Given the description of an element on the screen output the (x, y) to click on. 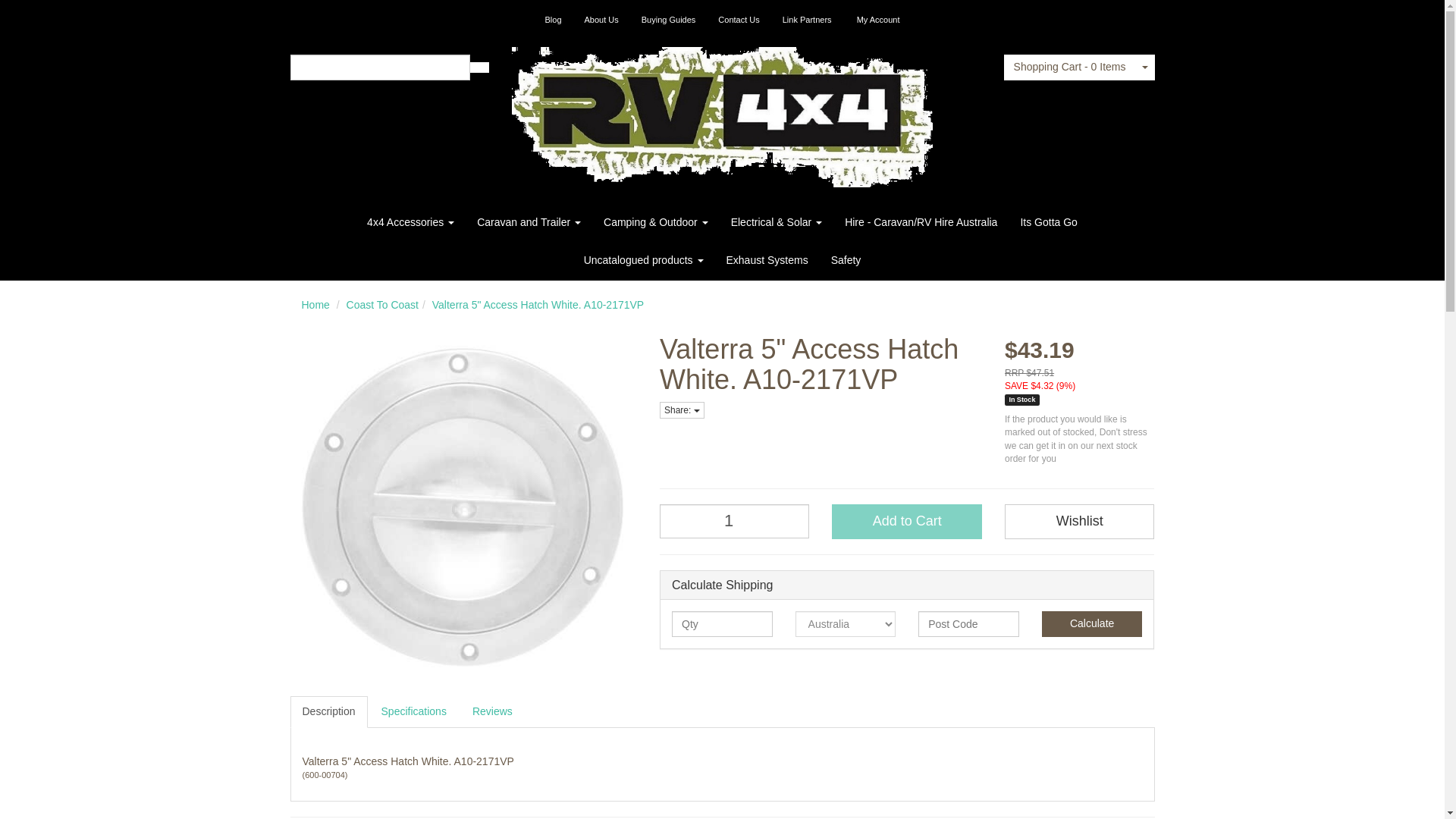
Buying Guides (668, 19)
Calculate (1092, 623)
Search (478, 67)
Blog (553, 19)
Link Partners (807, 19)
Shopping Cart - 0 Items (1069, 67)
Add to Cart (906, 521)
My Account (878, 19)
4x4 Accessories (410, 221)
RV4x4 PTY LTD  (722, 111)
About Us (601, 19)
1 (734, 521)
Contact Us (738, 19)
